Given the description of an element on the screen output the (x, y) to click on. 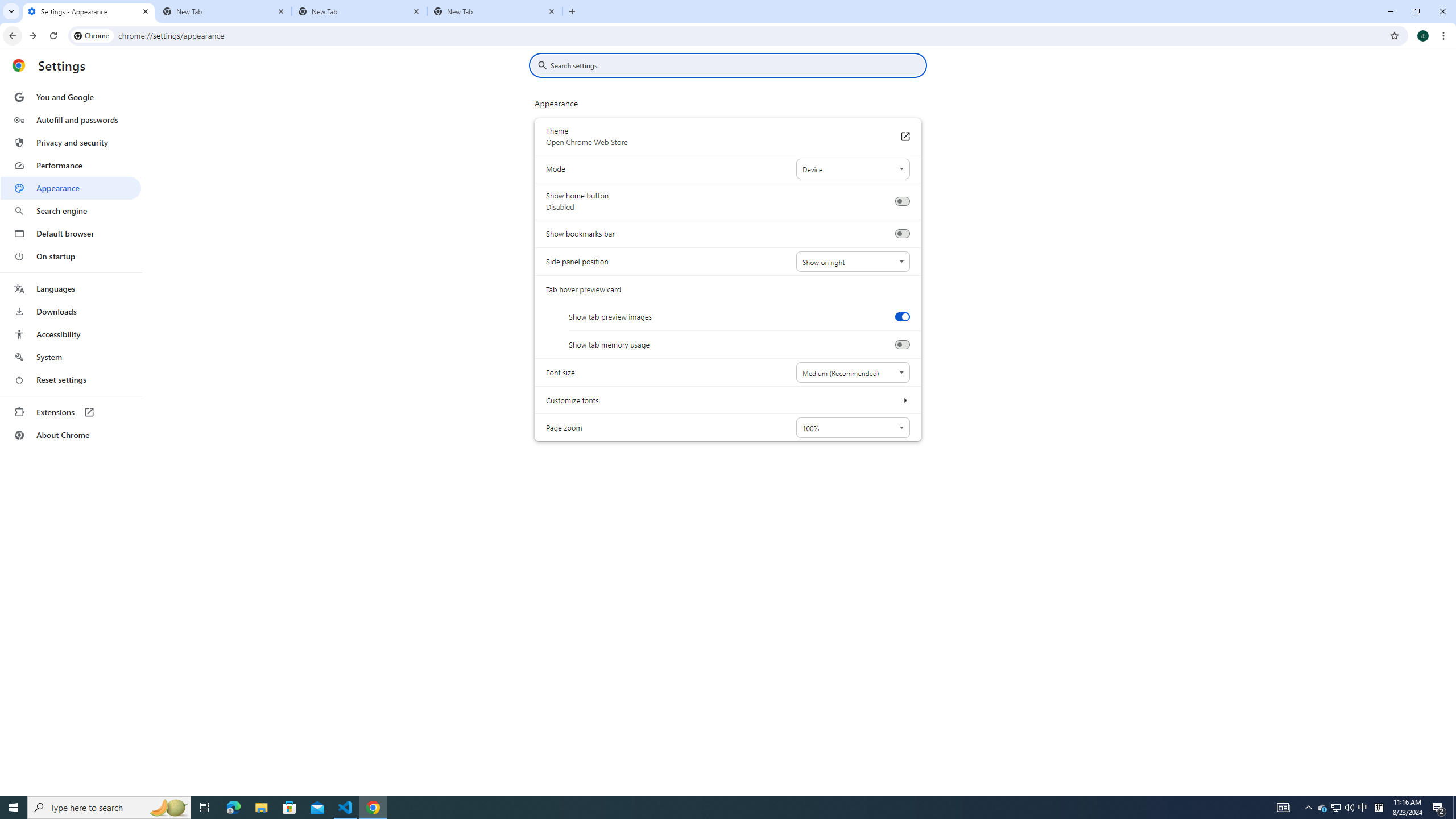
Search engine (70, 210)
